Given the description of an element on the screen output the (x, y) to click on. 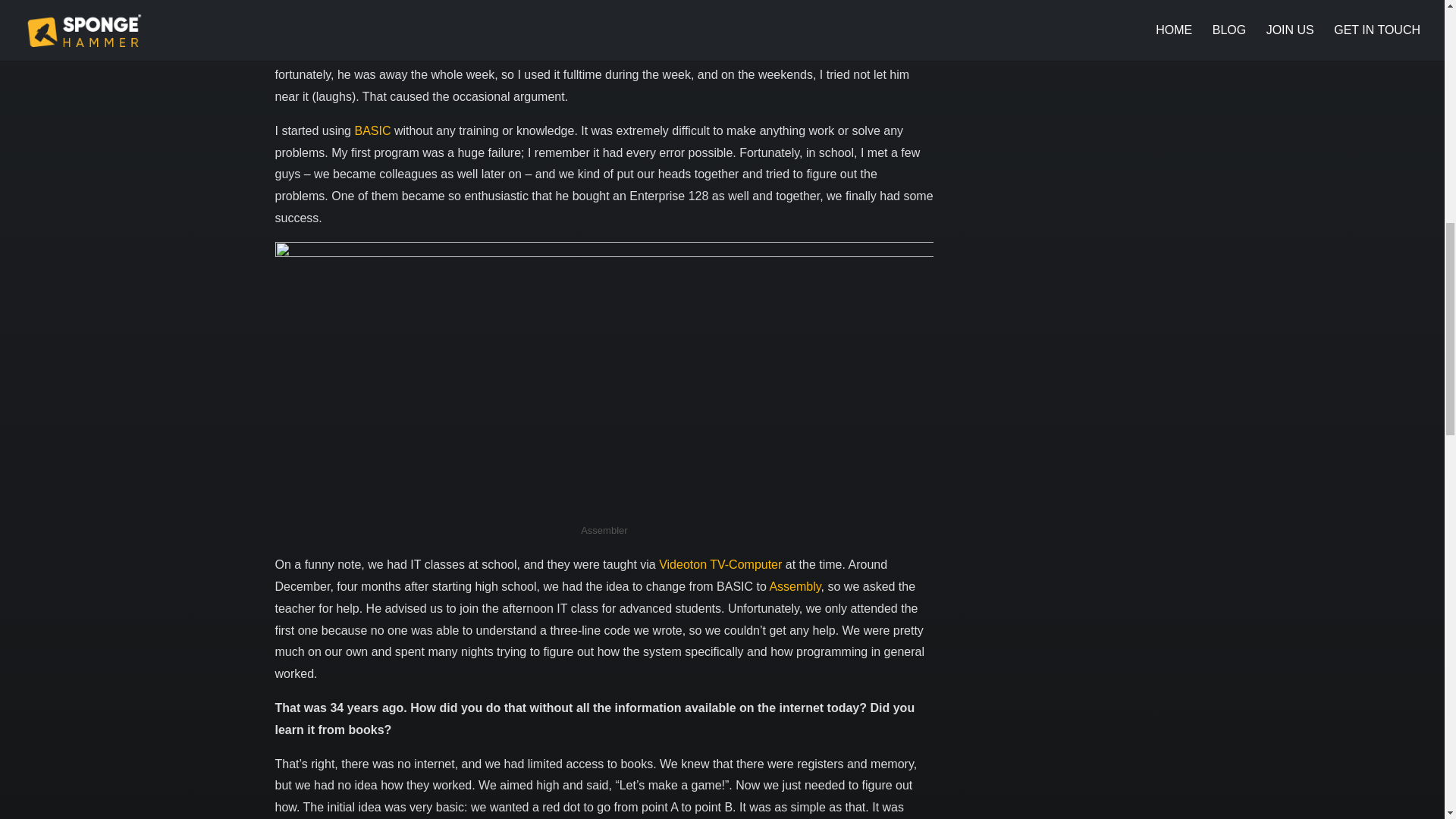
Assembly (794, 585)
BASIC (371, 130)
Wizard of Wor (812, 31)
Videoton TV-Computer (720, 563)
